Given the description of an element on the screen output the (x, y) to click on. 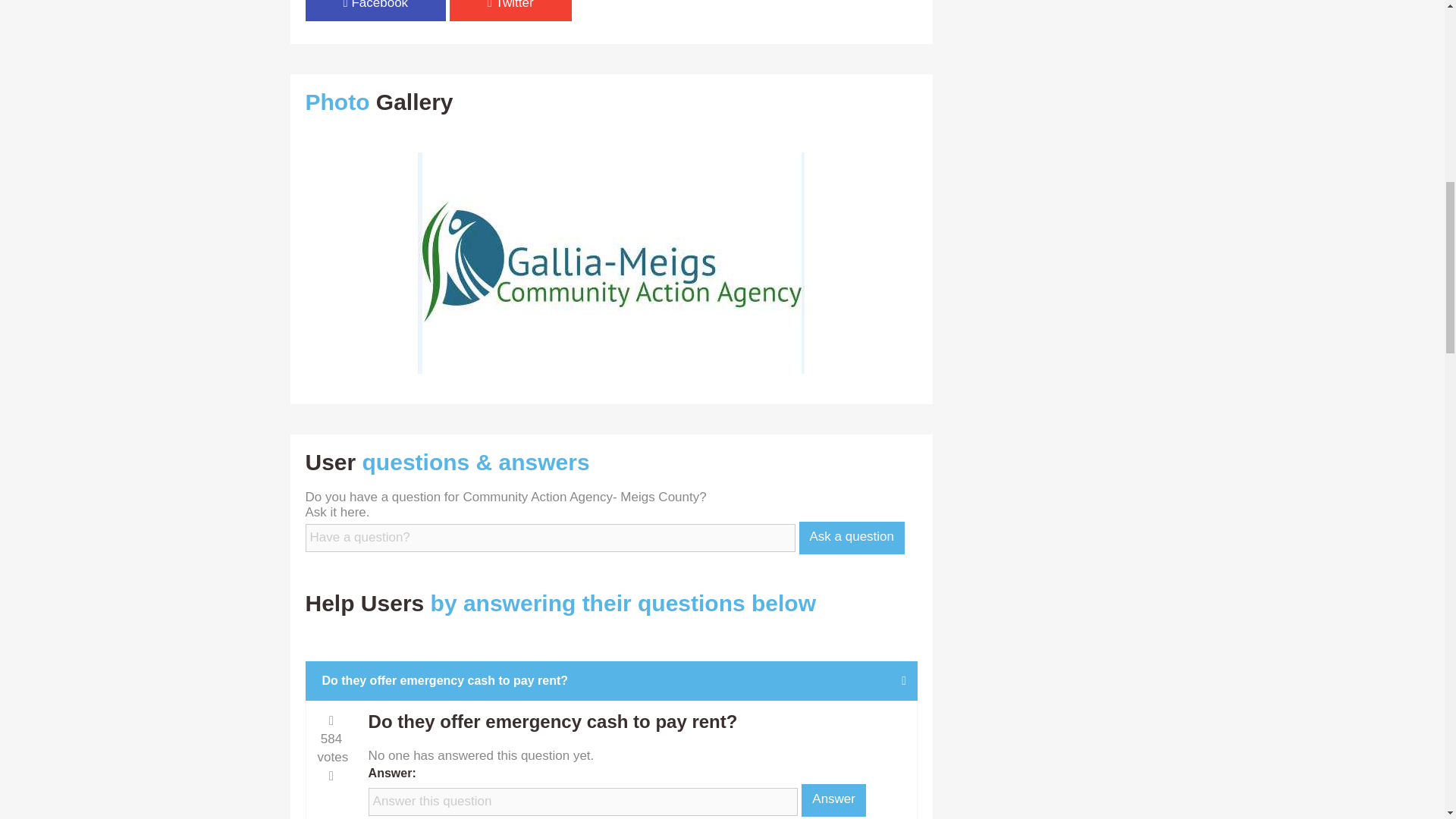
Facebook (374, 10)
Answer (834, 799)
Ask a question (852, 537)
Twitter (510, 10)
Do they offer emergency cash to pay rent? (612, 680)
Ask a question (852, 537)
